Given the description of an element on the screen output the (x, y) to click on. 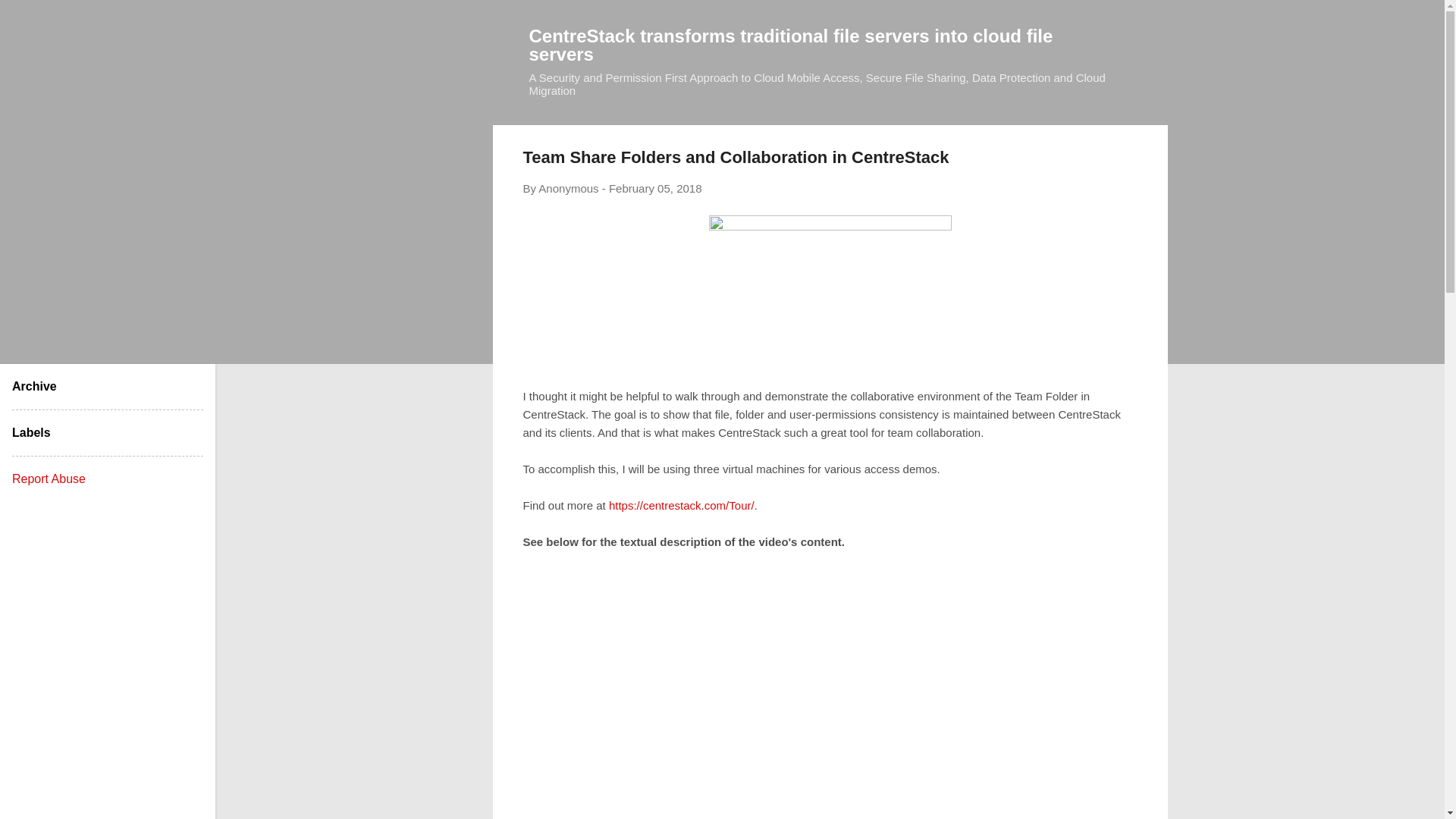
February 05, 2018 (654, 187)
Search (29, 18)
permanent link (654, 187)
